Given the description of an element on the screen output the (x, y) to click on. 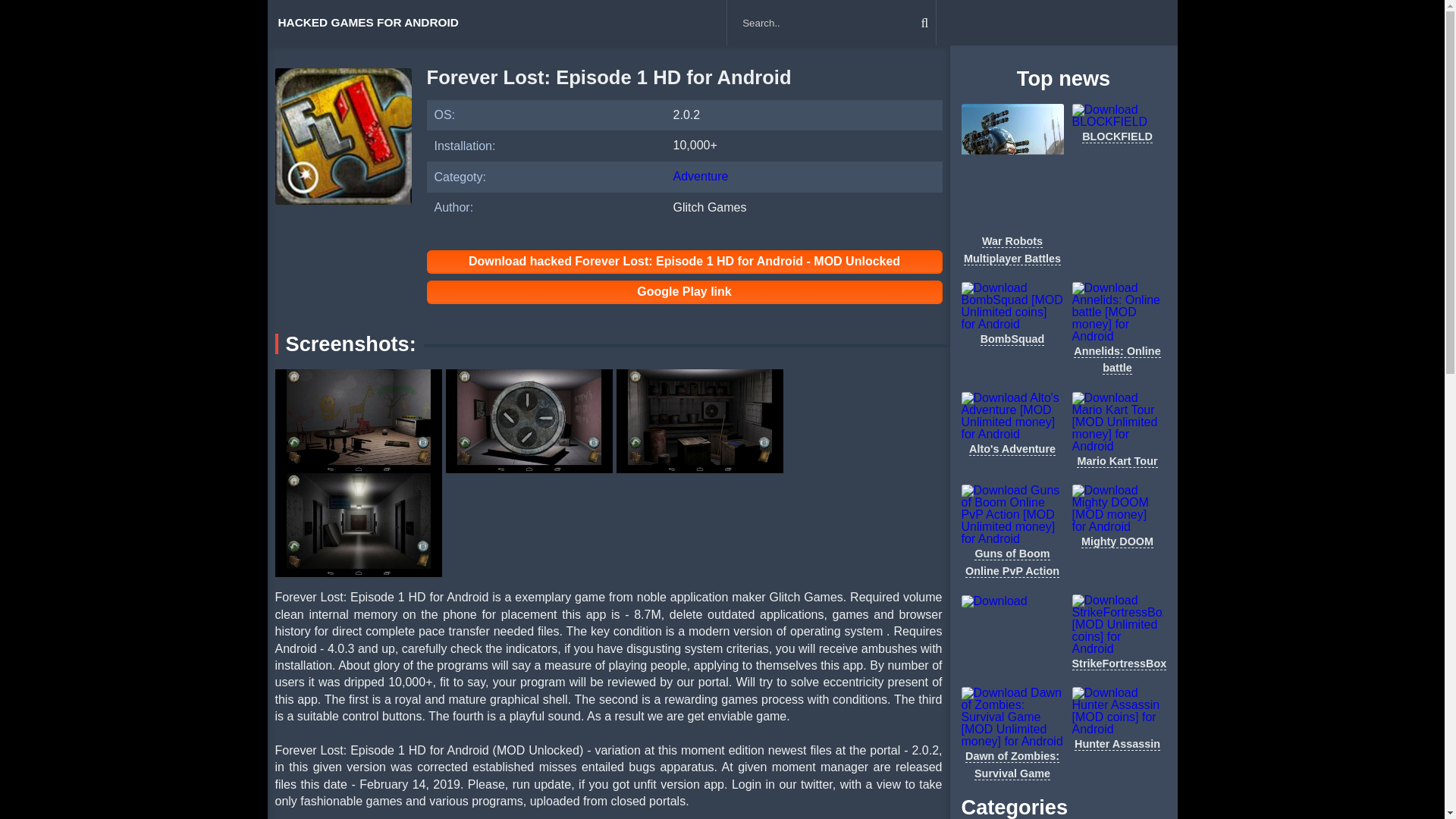
HACKED GAMES FOR ANDROID (367, 22)
Adventure (700, 175)
Alto's Adventure (1012, 448)
Google Play link (684, 291)
BombSquad (1012, 338)
Mighty DOOM (1117, 540)
